Given the description of an element on the screen output the (x, y) to click on. 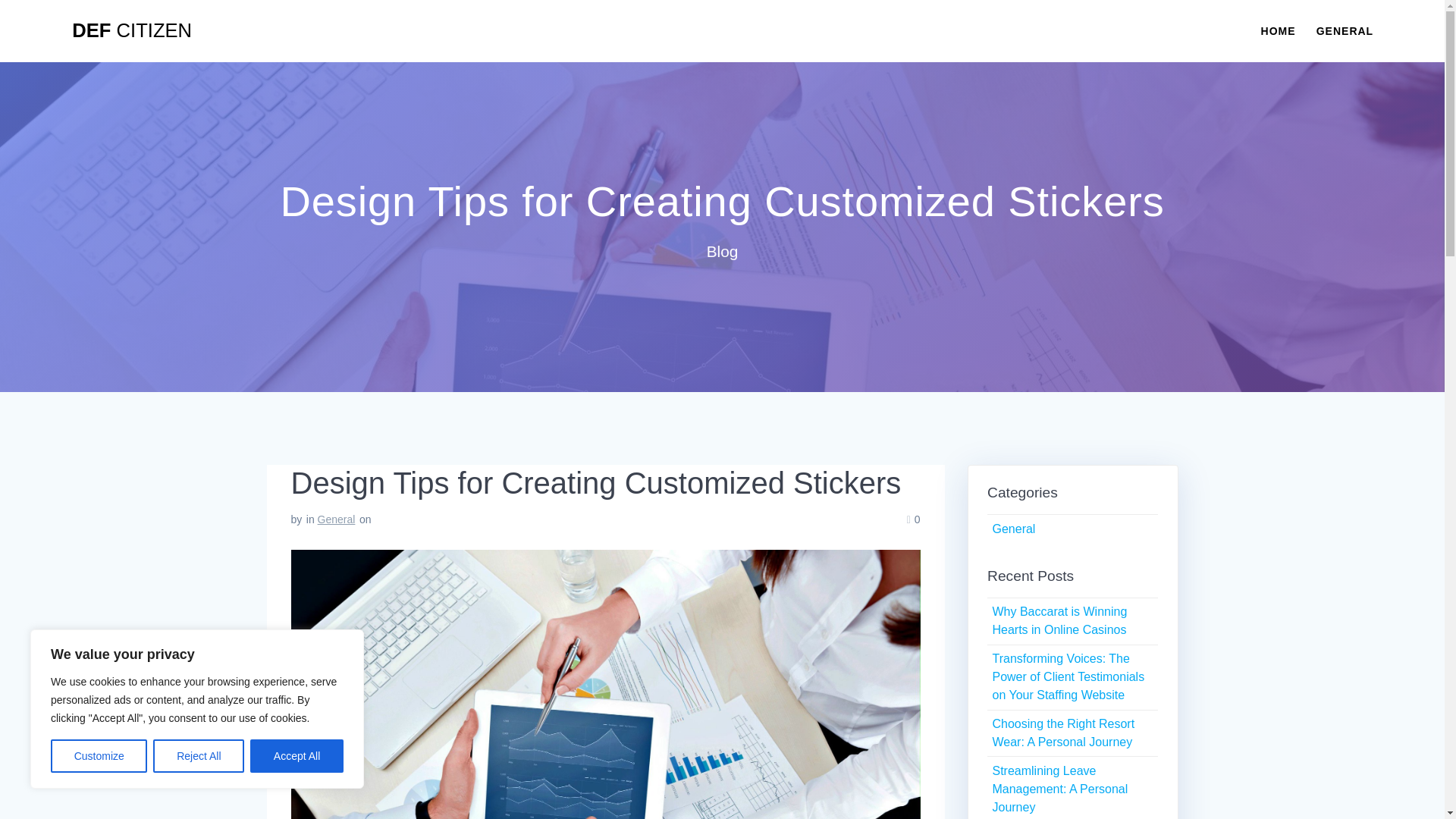
Customize (98, 756)
General (1013, 528)
Streamlining Leave Management: A Personal Journey (1058, 789)
Reject All (198, 756)
HOME (1277, 30)
Accept All (296, 756)
Why Baccarat is Winning Hearts in Online Casinos (1058, 620)
GENERAL (1344, 30)
General (336, 519)
